Given the description of an element on the screen output the (x, y) to click on. 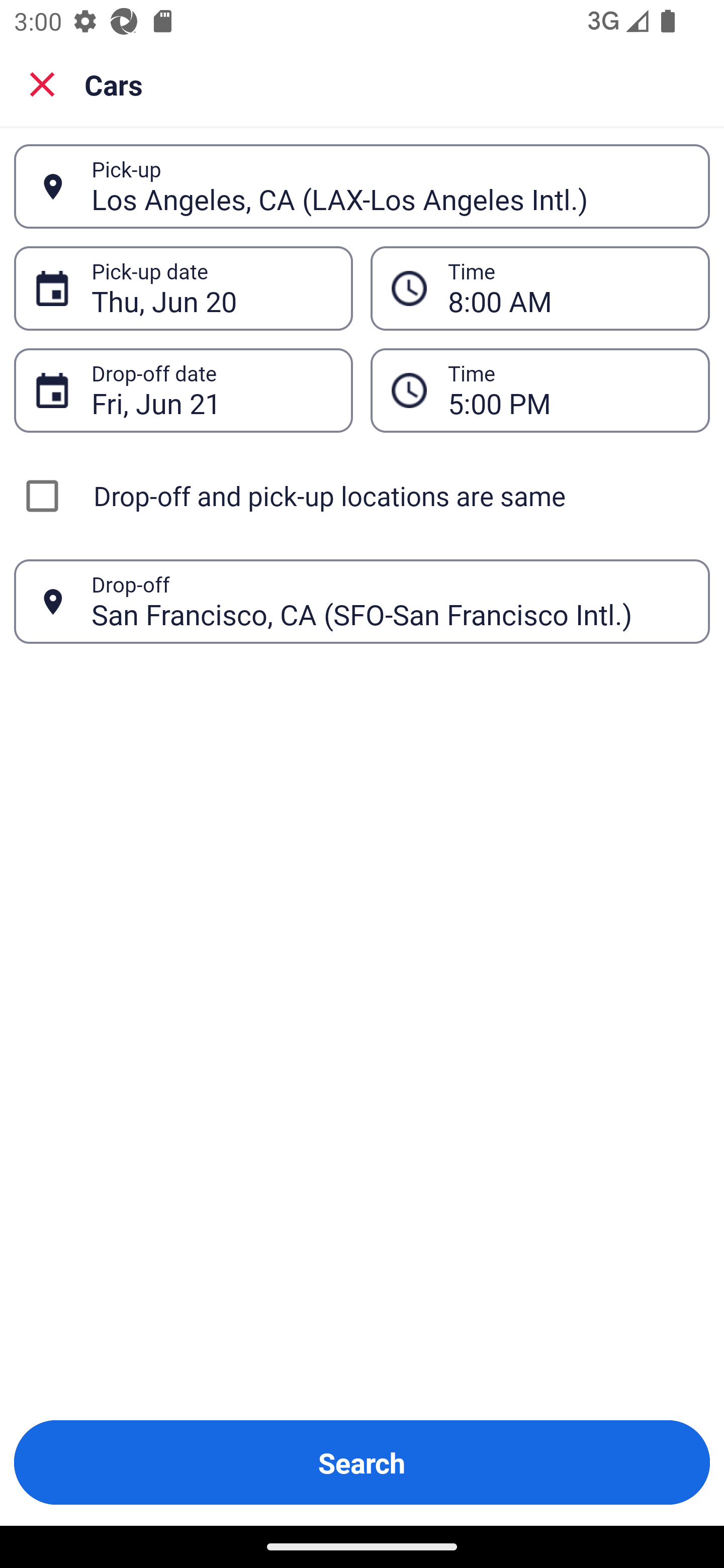
Close search screen (41, 83)
Los Angeles, CA (LAX-Los Angeles Intl.) Pick-up (361, 186)
Los Angeles, CA (LAX-Los Angeles Intl.) (389, 186)
Thu, Jun 20 Pick-up date (183, 288)
8:00 AM (540, 288)
Thu, Jun 20 (211, 288)
8:00 AM (568, 288)
Fri, Jun 21 Drop-off date (183, 390)
5:00 PM (540, 390)
Fri, Jun 21 (211, 390)
5:00 PM (568, 390)
Drop-off and pick-up locations are same (361, 495)
San Francisco, CA (SFO-San Francisco Intl.) (389, 601)
Search Button Search (361, 1462)
